Given the description of an element on the screen output the (x, y) to click on. 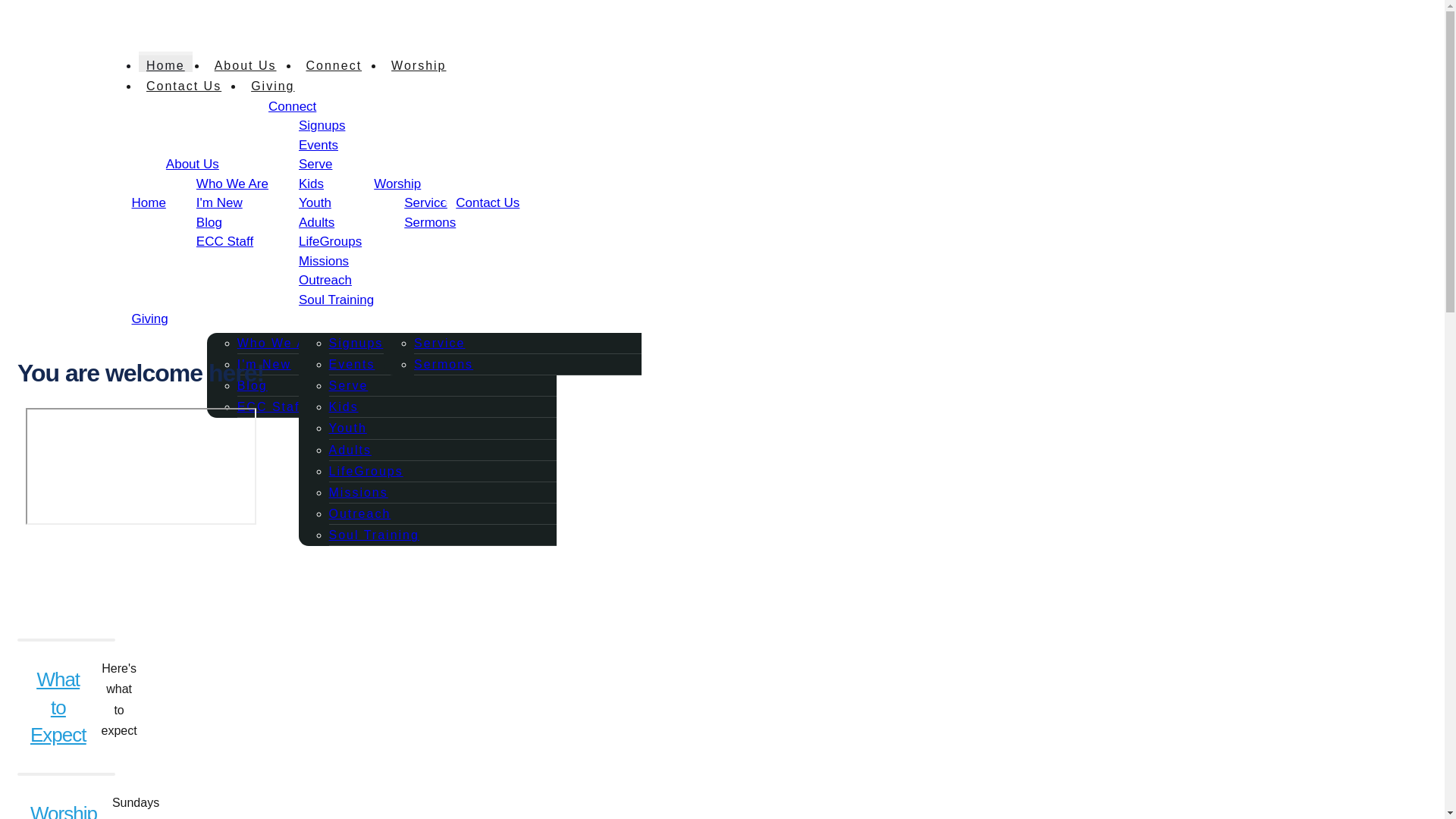
Youth (314, 202)
We hope to see you there! (638, 20)
Serve (348, 385)
Events (352, 364)
ECC Staff (224, 241)
Youth (347, 427)
Home (148, 202)
Worship (418, 65)
LifeGroups (329, 241)
Contact Us (183, 85)
Soul Training (374, 534)
Who We Are (231, 183)
Service (438, 342)
Who We Are (278, 342)
Kids (343, 406)
